Given the description of an element on the screen output the (x, y) to click on. 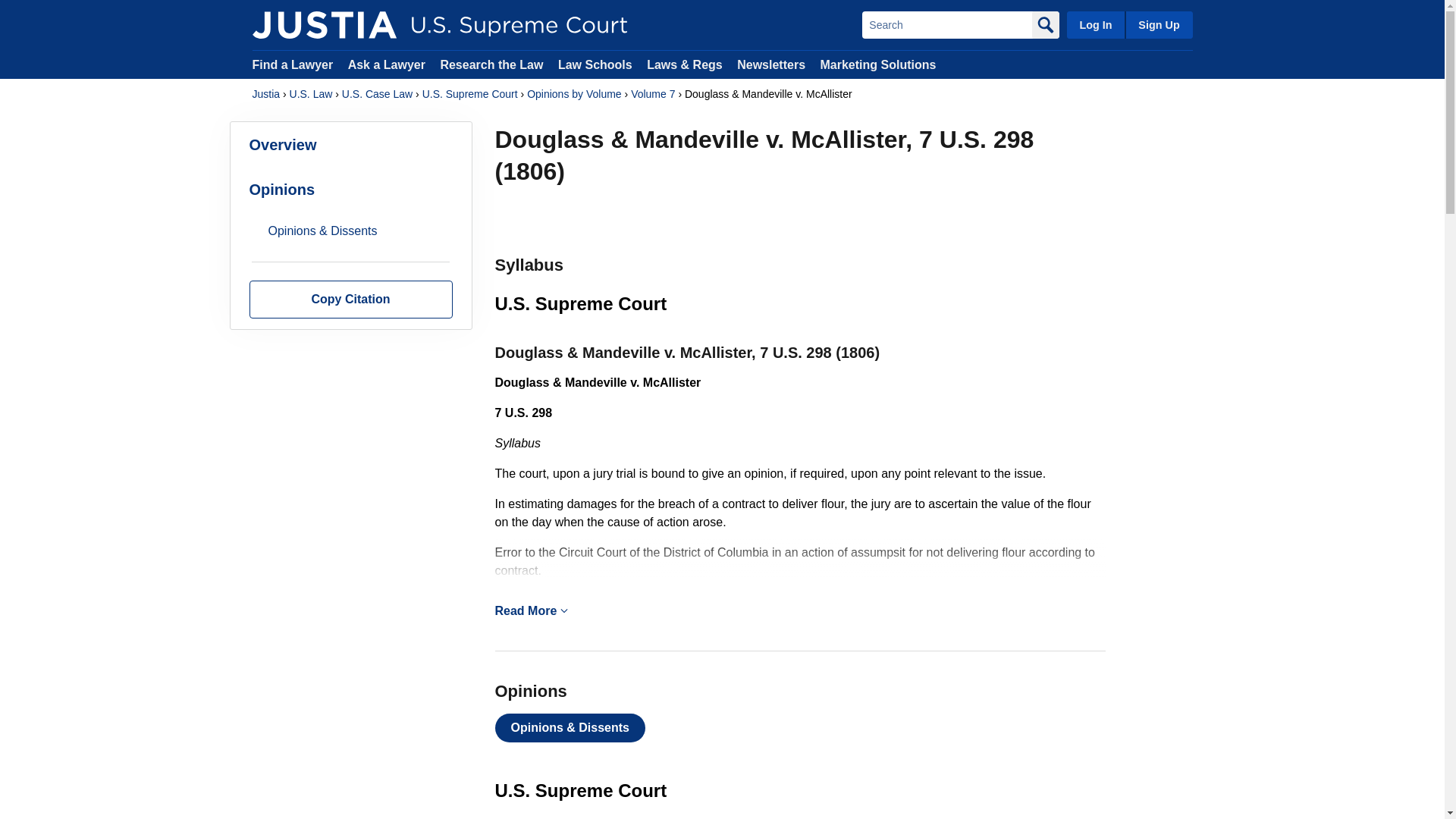
Research the Law (491, 64)
Law Schools (594, 64)
Opinions by Volume (574, 93)
Justia (265, 93)
Sign Up (1158, 24)
Mobile Navigation (563, 610)
Justia (323, 24)
Ask a Lawyer (388, 64)
Newsletters (770, 64)
U.S. Case Law (377, 93)
U.S. Law (311, 93)
Find a Lawyer (292, 64)
Log In (1094, 24)
Volume 7 (652, 93)
U.S. Supreme Court (470, 93)
